Given the description of an element on the screen output the (x, y) to click on. 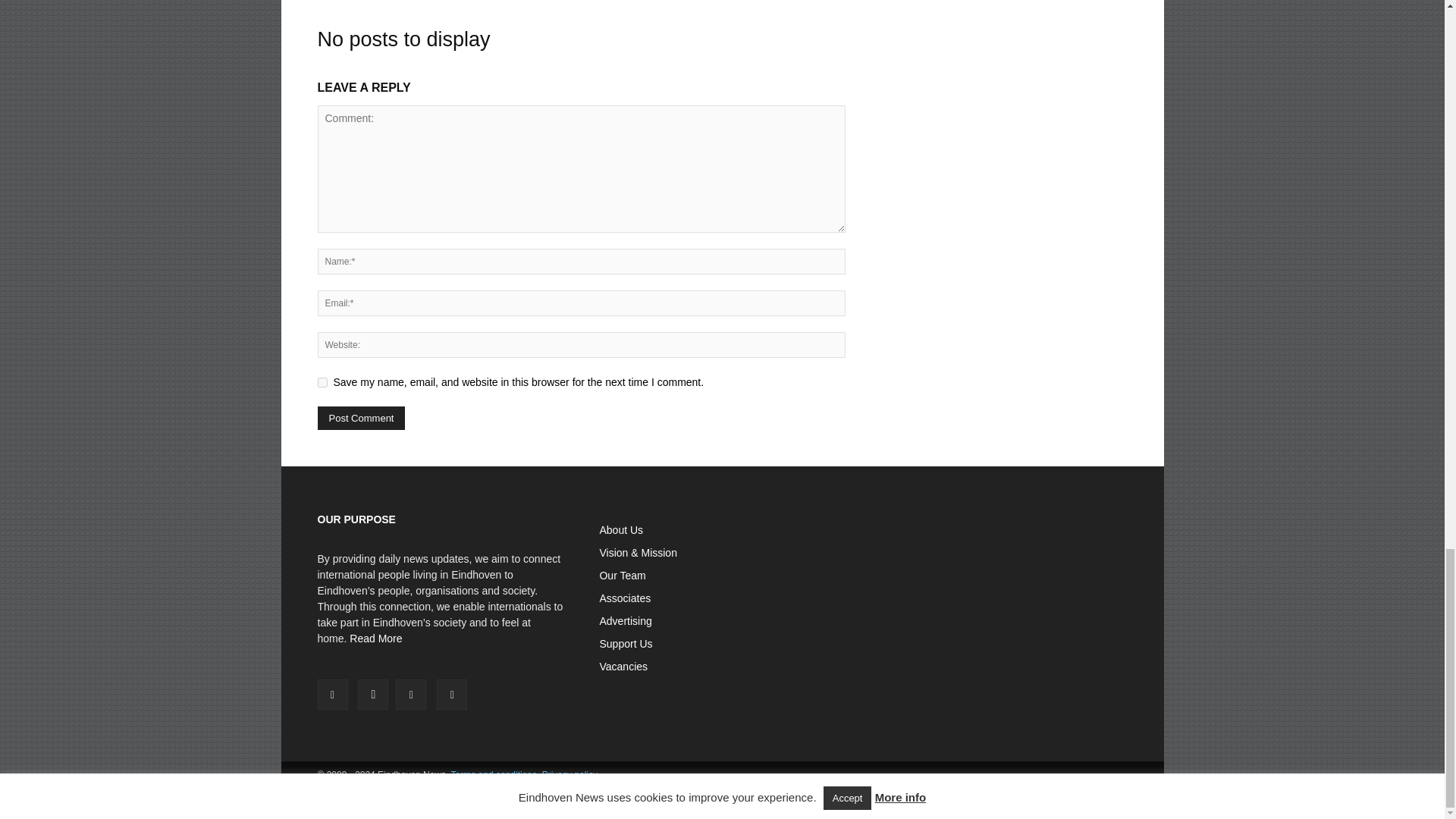
yes (321, 382)
Post Comment (360, 417)
